Given the description of an element on the screen output the (x, y) to click on. 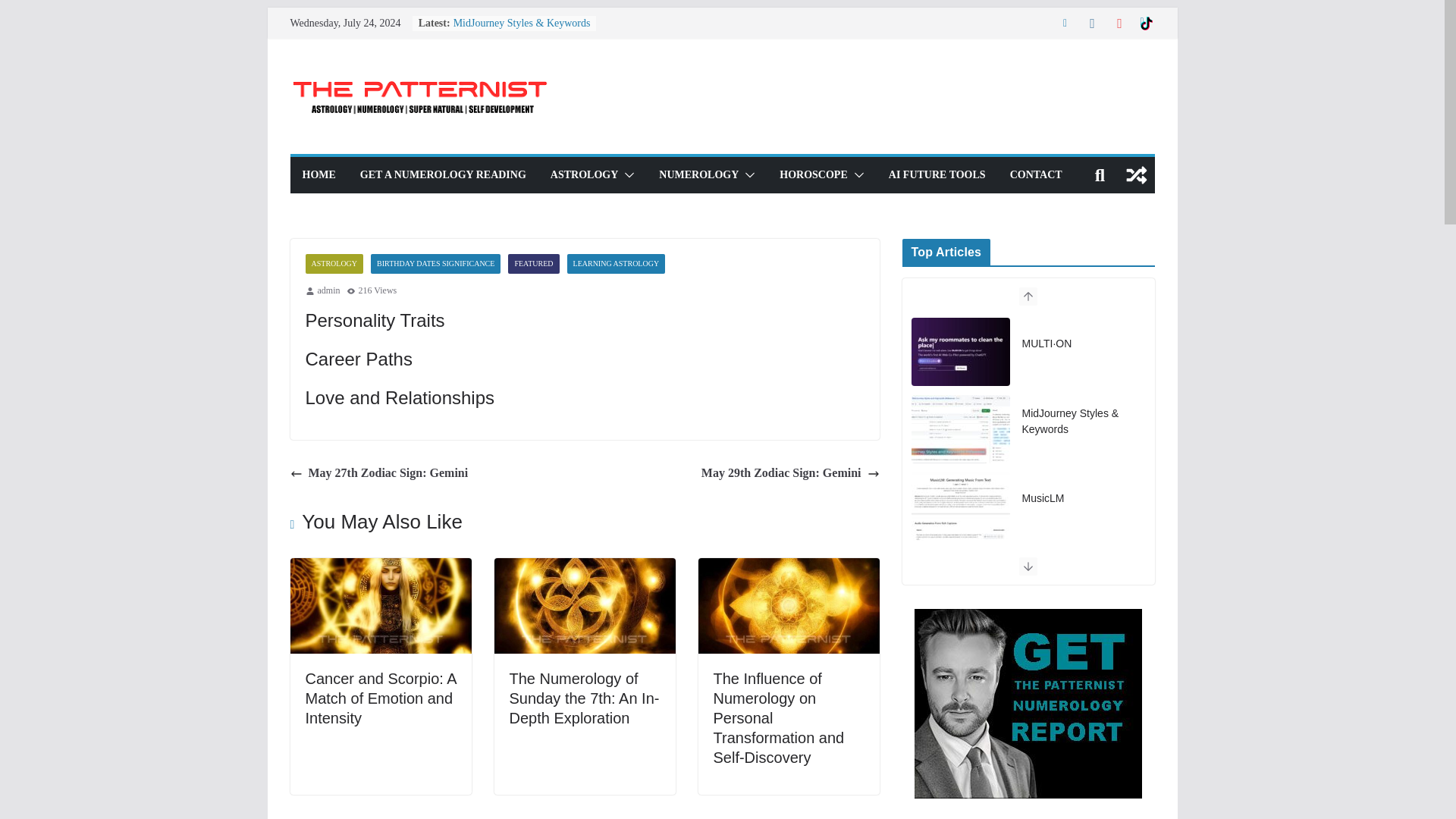
HOME (317, 174)
GET A NUMEROLOGY READING (442, 174)
admin (328, 290)
Cancer and Scorpio: A Match of Emotion and Intensity (379, 567)
The Numerology of Sunday the 7th: An In-Depth Exploration 3 (585, 605)
The Numerology of Sunday the 7th: An In-Depth Exploration (585, 567)
NUMEROLOGY (698, 174)
View a random post (1136, 175)
HOROSCOPE (812, 174)
ASTROLOGY (583, 174)
Cancer and Scorpio: A Match of Emotion and Intensity 2 (379, 605)
Cancer and Scorpio: A Match of Emotion and Intensity (379, 698)
